Given the description of an element on the screen output the (x, y) to click on. 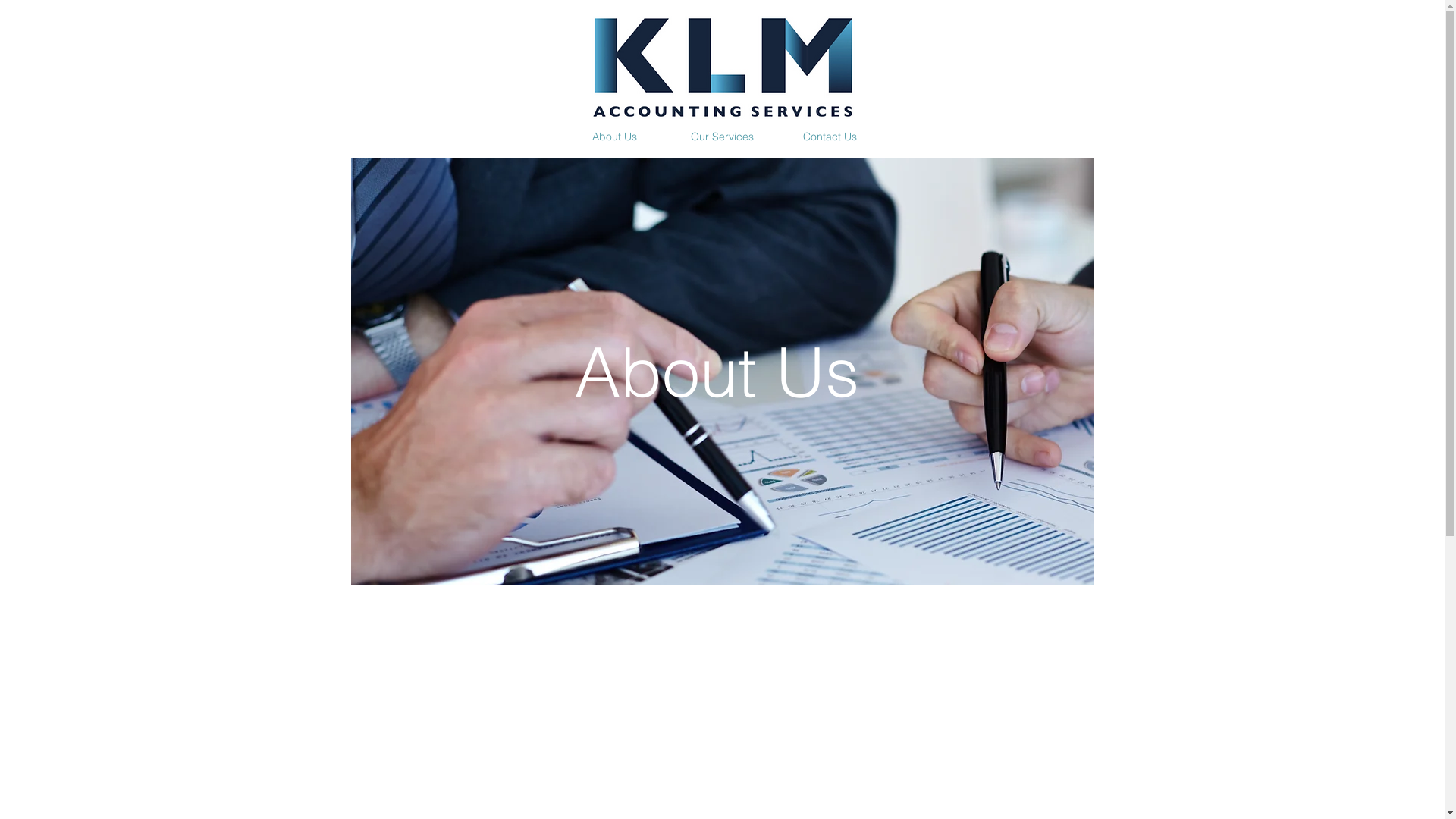
Our Services Element type: text (722, 136)
Contact Us Element type: text (830, 136)
About Us Element type: text (614, 136)
